Given the description of an element on the screen output the (x, y) to click on. 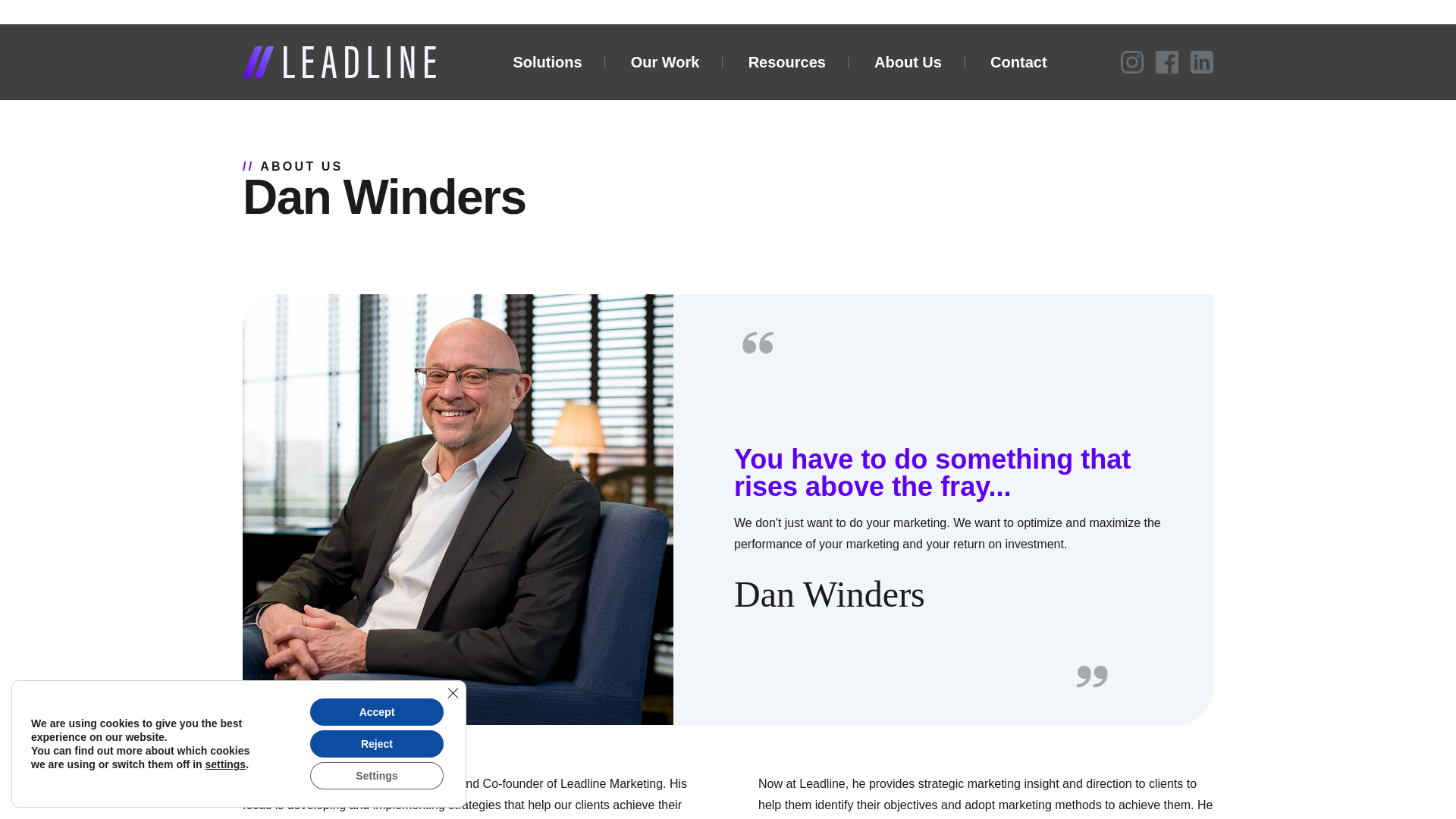
Contact (1016, 61)
Solutions (544, 61)
Resources (785, 61)
Our Work (663, 61)
About Us (906, 61)
